Given the description of an element on the screen output the (x, y) to click on. 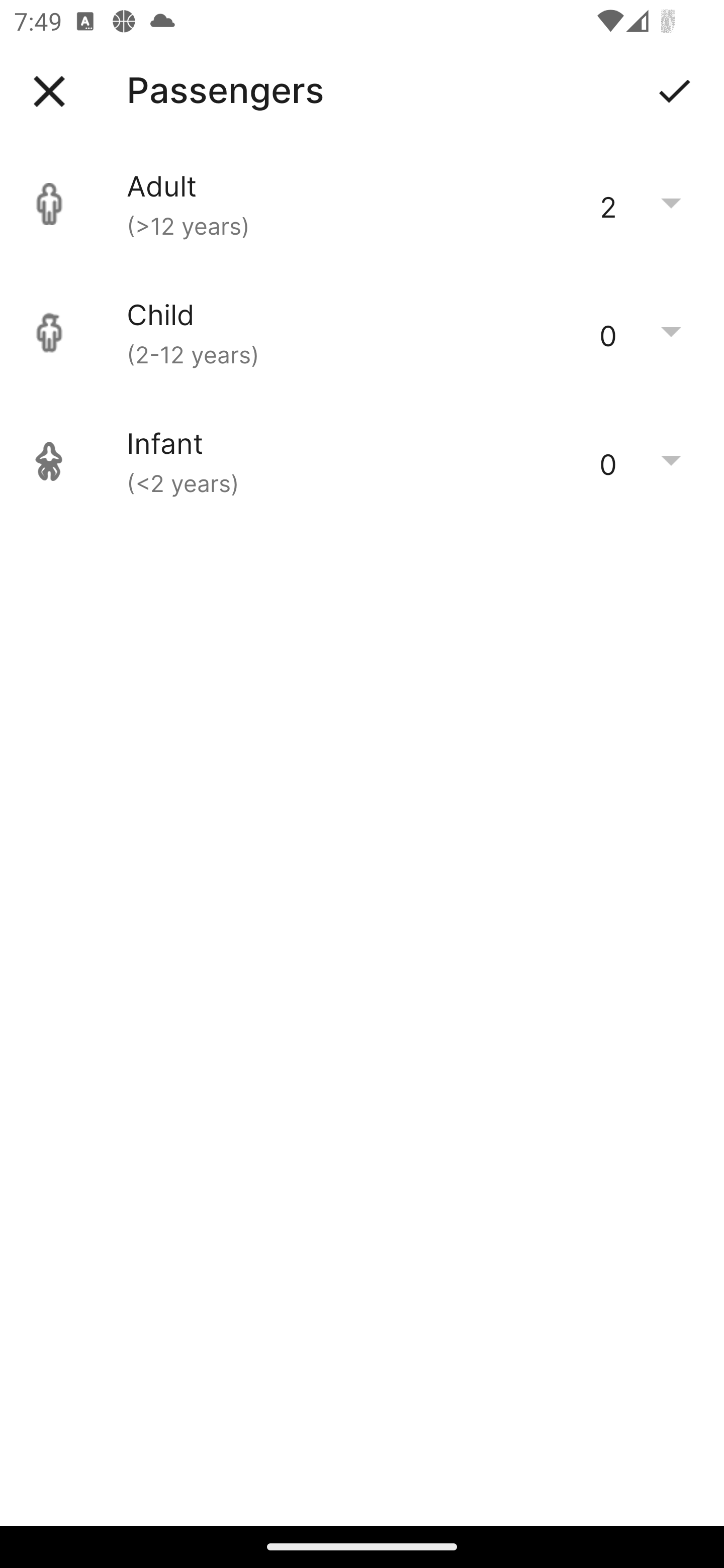
Adult (>12 years) 2 (362, 204)
Child (2-12 years) 0 (362, 332)
Infant (<2 years) 0 (362, 461)
